Given the description of an element on the screen output the (x, y) to click on. 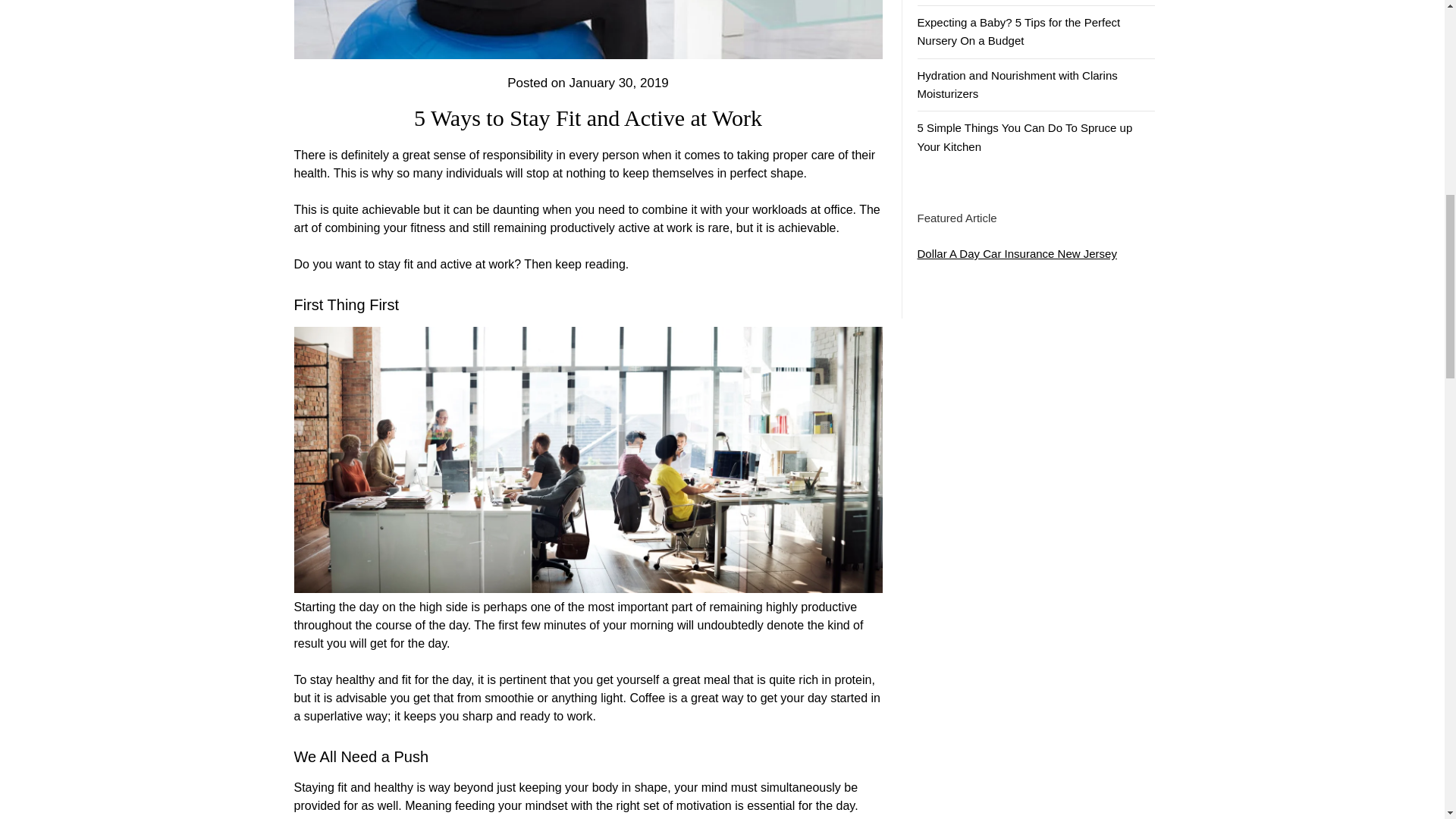
Expecting a Baby? 5 Tips for the Perfect Nursery On a Budget (1019, 30)
Dollar A Day Car Insurance New Jersey (1016, 253)
Hydration and Nourishment with Clarins Moisturizers (1017, 83)
5 Simple Things You Can Do To Spruce up Your Kitchen (1024, 136)
January 30, 2019 (618, 83)
